Given the description of an element on the screen output the (x, y) to click on. 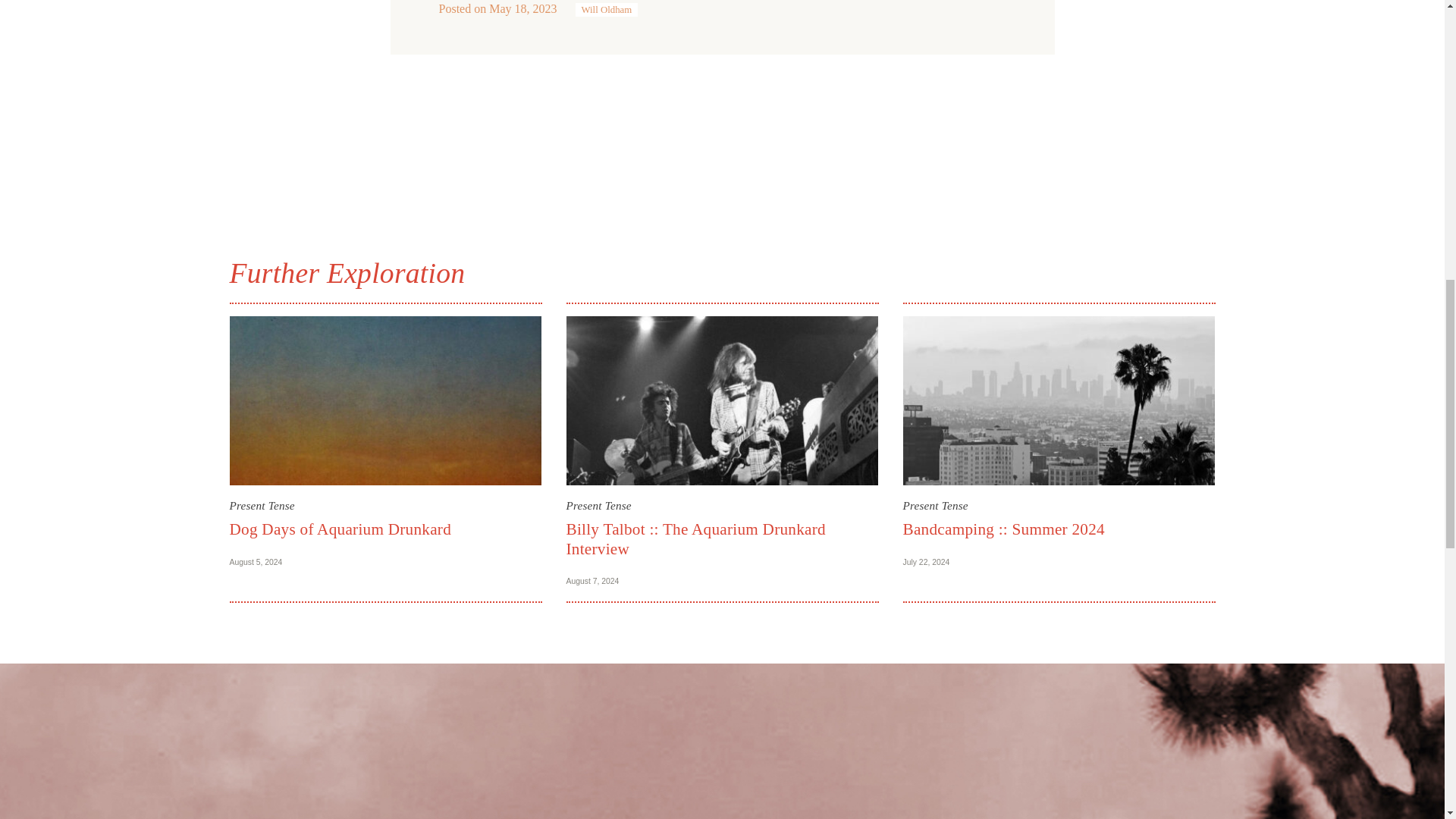
3rd party ad content (721, 137)
May 18, 2023 (522, 8)
Dog Days of Aquarium Drunkard (339, 529)
Will Oldham (606, 9)
Billy Talbot :: The Aquarium Drunkard Interview (695, 538)
Bandcamping :: Summer 2024 (1002, 529)
